Given the description of an element on the screen output the (x, y) to click on. 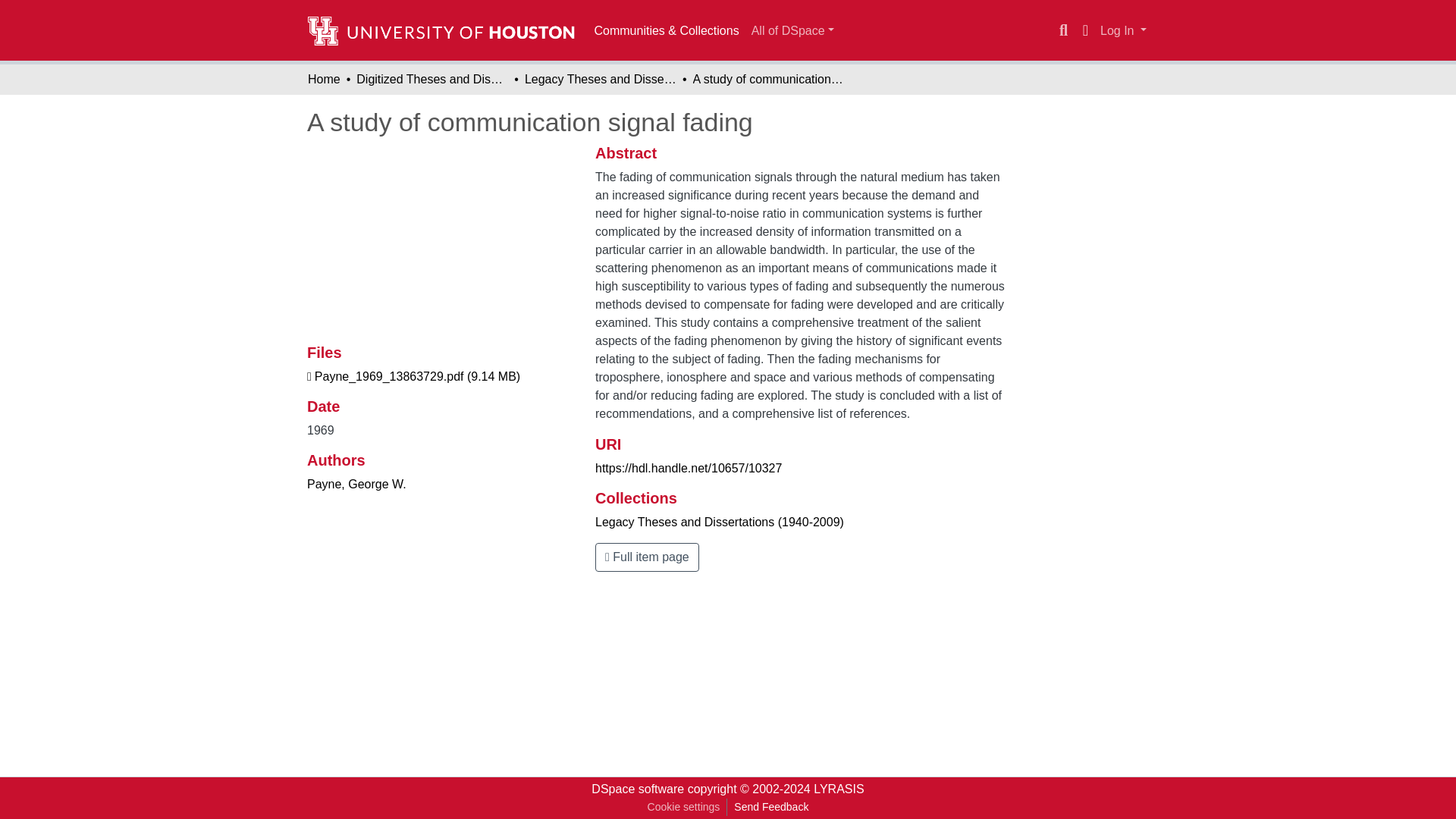
Full item page (646, 556)
Search (1063, 30)
DSpace software (637, 788)
Log In (1122, 30)
Language switch (1084, 30)
Cookie settings (683, 806)
Home (323, 79)
All of DSpace (792, 30)
LYRASIS (838, 788)
Send Feedback (770, 806)
Payne, George W. (356, 483)
